Given the description of an element on the screen output the (x, y) to click on. 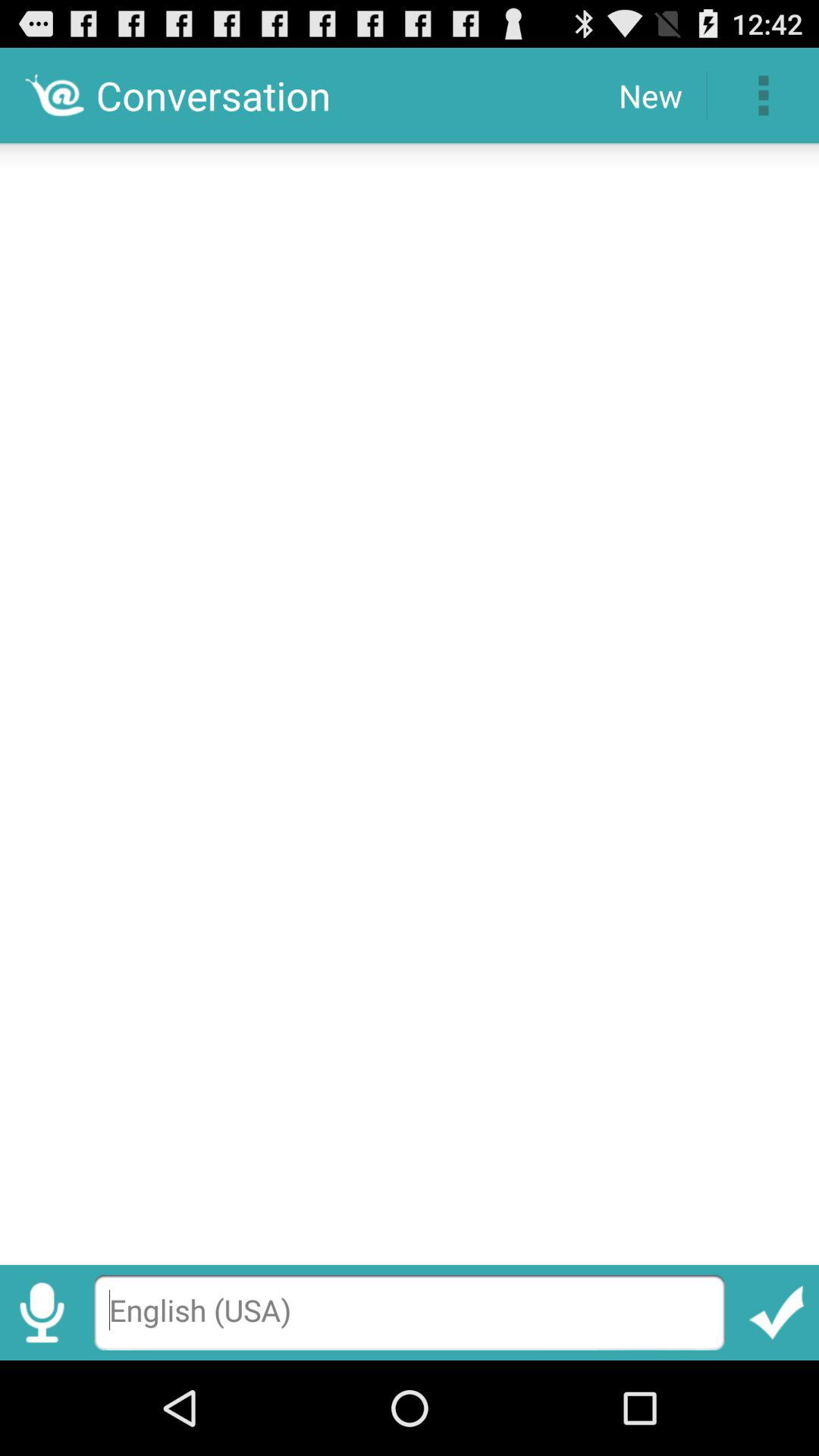
launch the item below the new item (409, 698)
